Given the description of an element on the screen output the (x, y) to click on. 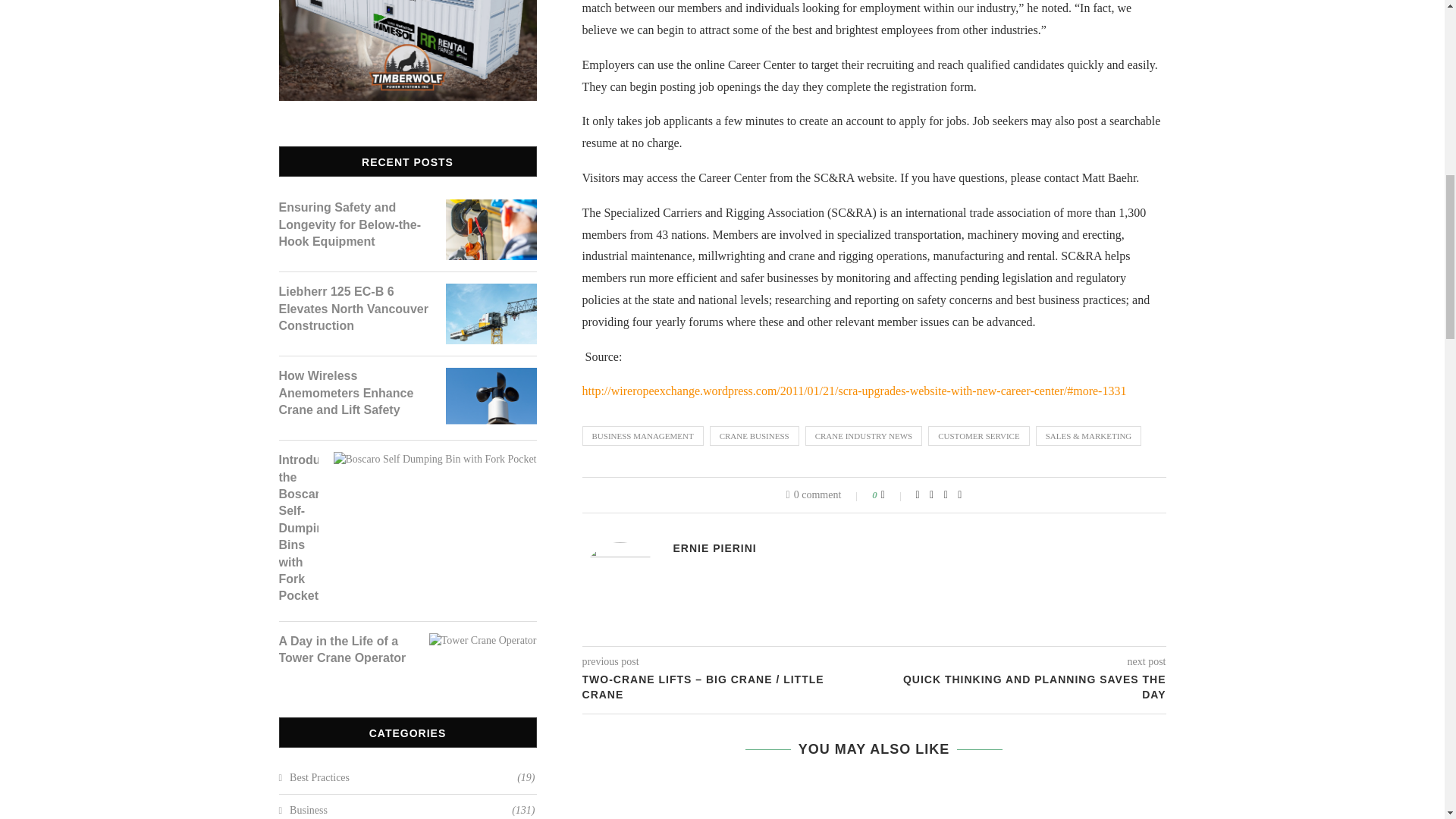
Like (892, 494)
How Wireless Anemometers Enhance Crane and Lift Safety (491, 377)
Liebherr 125 EC-B 6 Elevates North Vancouver Construction (491, 292)
How Wireless Anemometers Enhance Crane and Lift Safety (354, 392)
A Day in the Life of a Tower Crane Operator (346, 650)
Ensuring Safety and Longevity for Below-the-Hook Equipment (491, 208)
Liebherr 125 EC-B 6 Elevates North Vancouver Construction (354, 308)
A Day in the Life of a Tower Crane Operator (483, 642)
Posts by Ernie Pierini (714, 548)
Ensuring Safety and Longevity for Below-the-Hook Equipment (354, 224)
Introducing the Boscaro Self-Dumping Bins with Fork Pockets (435, 460)
